Given the description of an element on the screen output the (x, y) to click on. 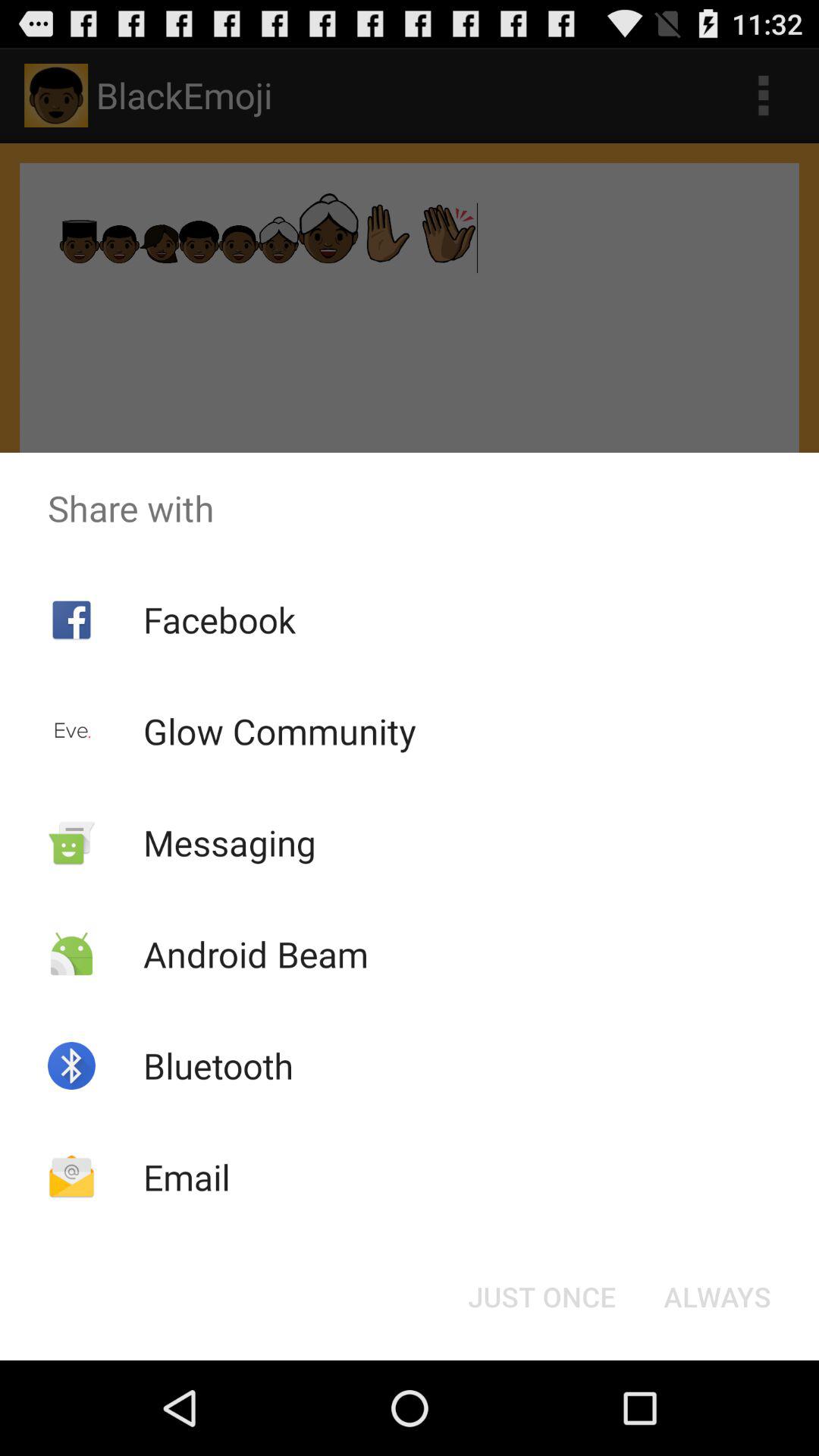
choose the app above the bluetooth (255, 953)
